Given the description of an element on the screen output the (x, y) to click on. 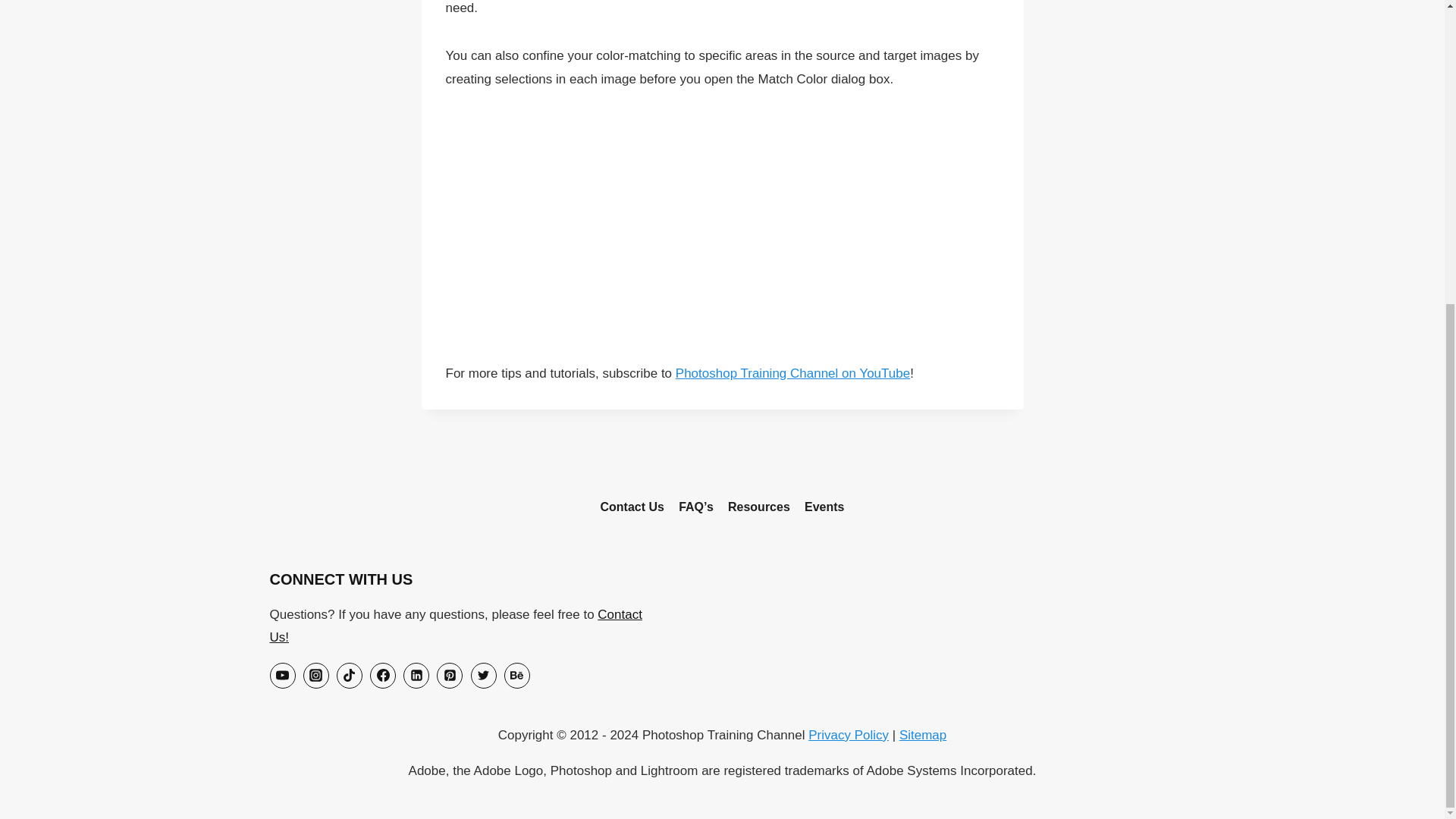
Contact Us (631, 507)
Events (823, 507)
Contact Us! (455, 626)
Resources (758, 507)
Photoshop Training Channel on YouTube (792, 373)
